Given the description of an element on the screen output the (x, y) to click on. 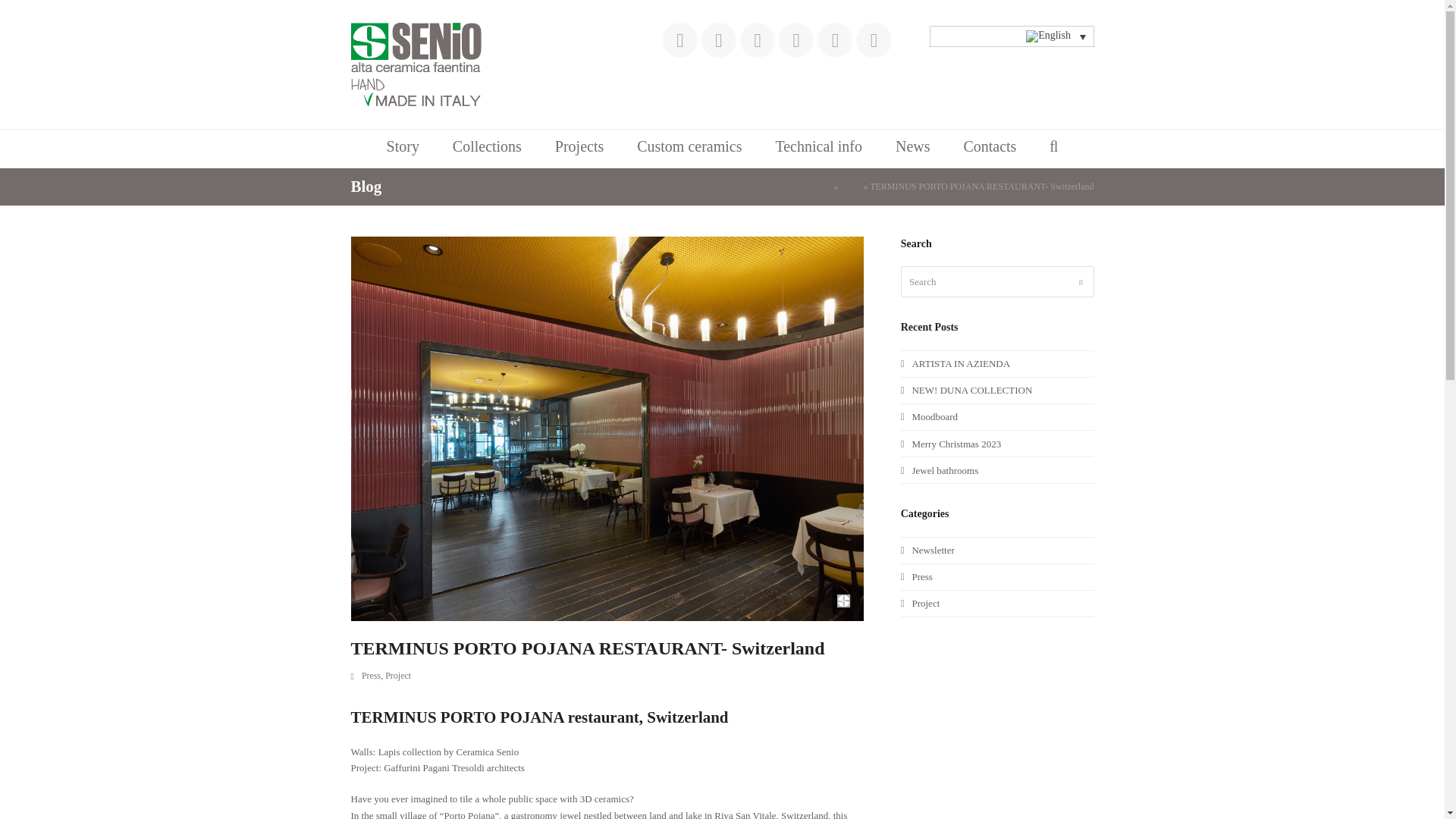
Pinterest (795, 39)
Houzz (873, 39)
LinkedIn (756, 39)
Facebook (679, 39)
Projects (579, 148)
Instagram (718, 39)
Youtube (833, 39)
Technical info (818, 148)
LinkedIn (756, 39)
Facebook (679, 39)
News (850, 185)
Custom ceramics (689, 148)
Instagram (718, 39)
Houzz (873, 39)
Story (402, 148)
